Given the description of an element on the screen output the (x, y) to click on. 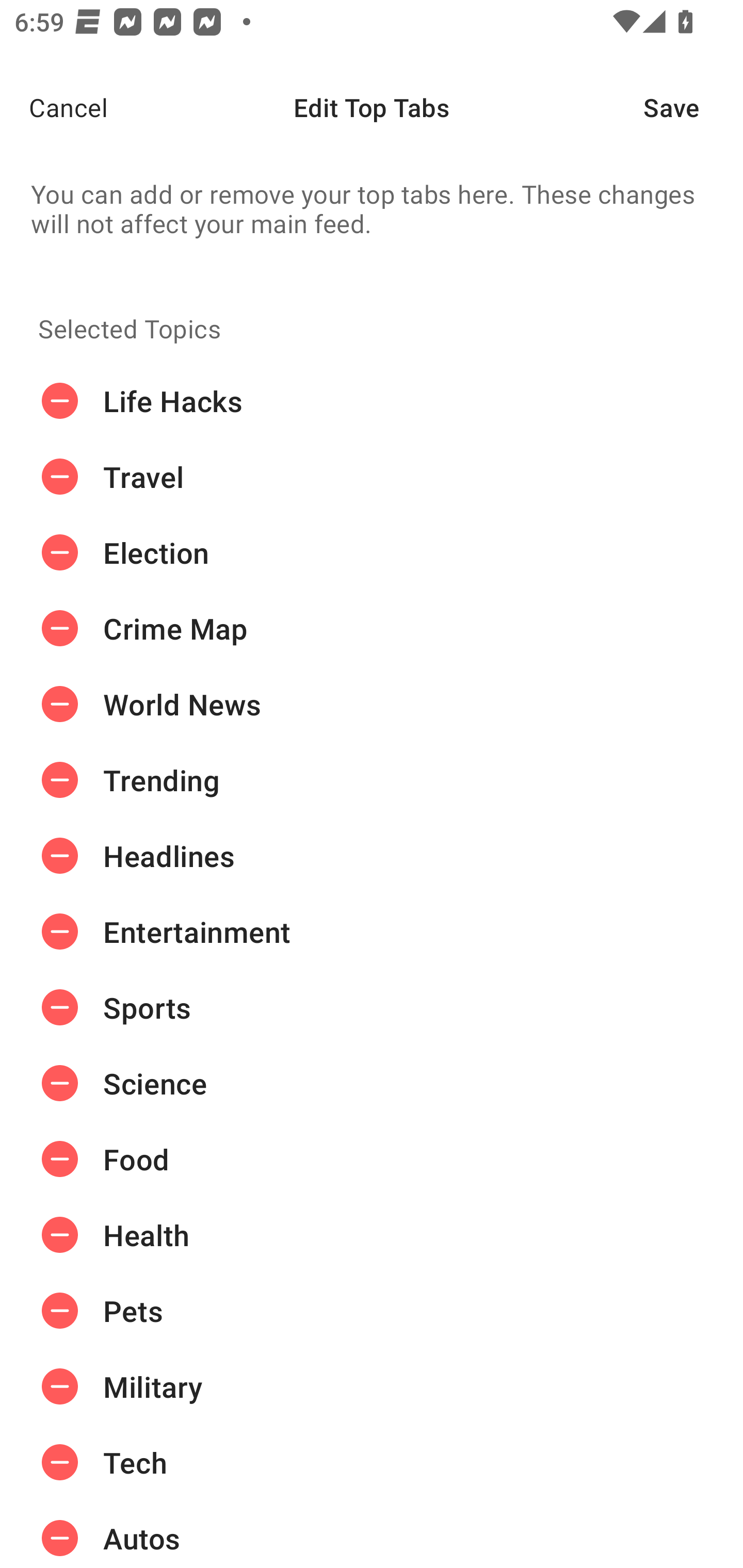
Cancel (53, 106)
Save (693, 106)
Life Hacks (371, 401)
Travel (371, 476)
Election (371, 552)
Crime Map (371, 628)
World News (371, 703)
Trending (371, 779)
Headlines (371, 855)
Entertainment (371, 931)
Sports (371, 1007)
Science (371, 1083)
Food (371, 1158)
Health (371, 1234)
Pets (371, 1310)
Military (371, 1386)
Tech (371, 1462)
Autos (371, 1534)
